Given the description of an element on the screen output the (x, y) to click on. 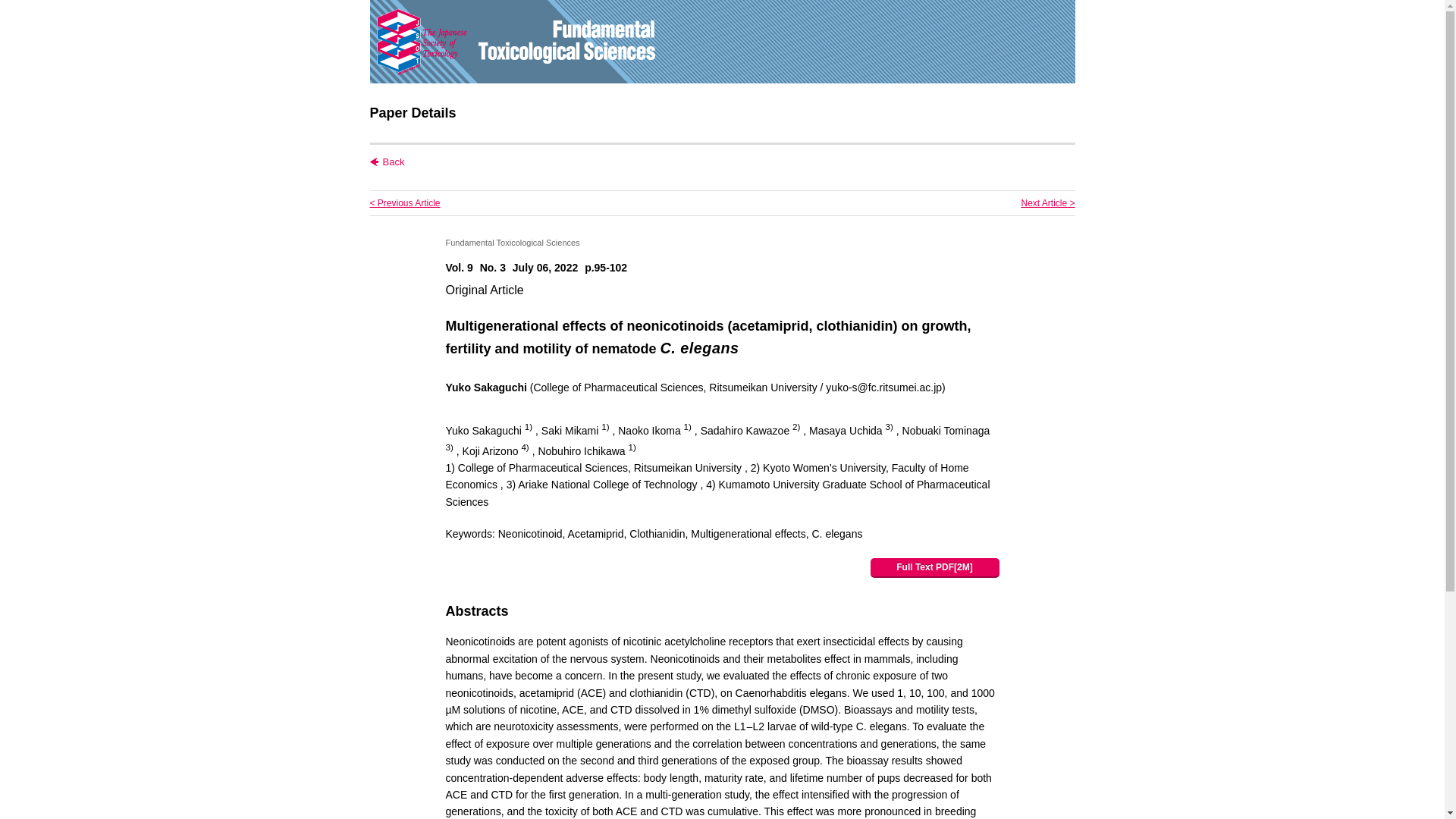
Back (386, 161)
